Given the description of an element on the screen output the (x, y) to click on. 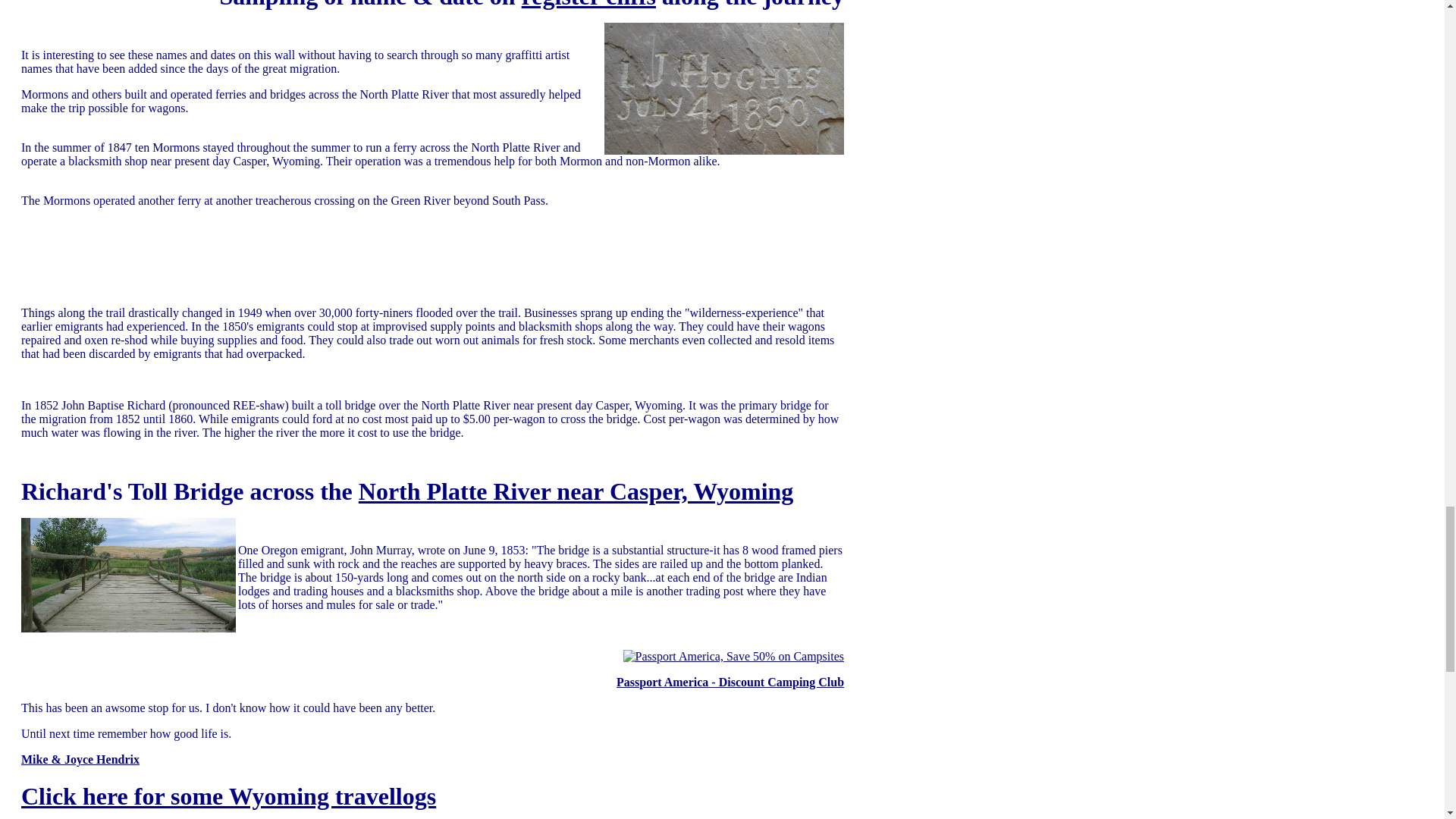
register cliffs (588, 4)
Click here for some Wyoming travellogs (228, 795)
Advertisement (297, 274)
North Platte River near Casper, Wyoming (575, 491)
Passport America - Discount Camping Club (729, 681)
Passport America Discount Camping Club (733, 656)
